Given the description of an element on the screen output the (x, y) to click on. 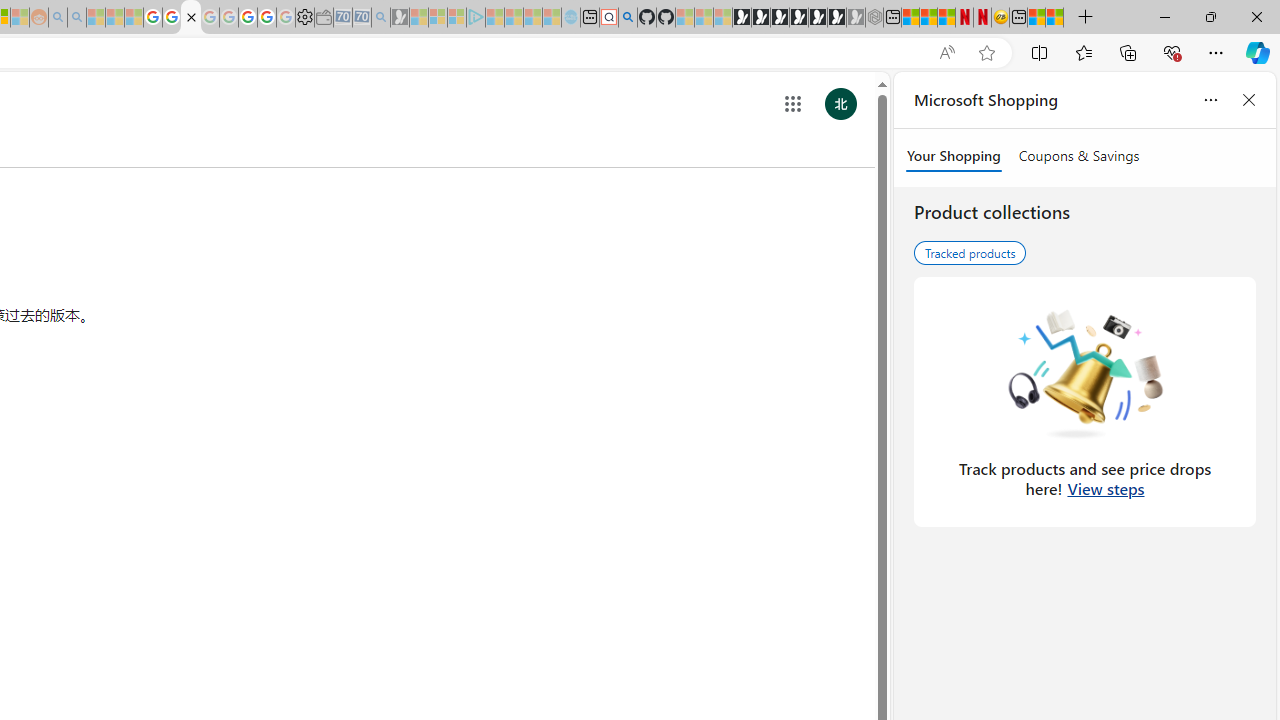
github - Search (628, 17)
Class: gb_E (792, 103)
